Given the description of an element on the screen output the (x, y) to click on. 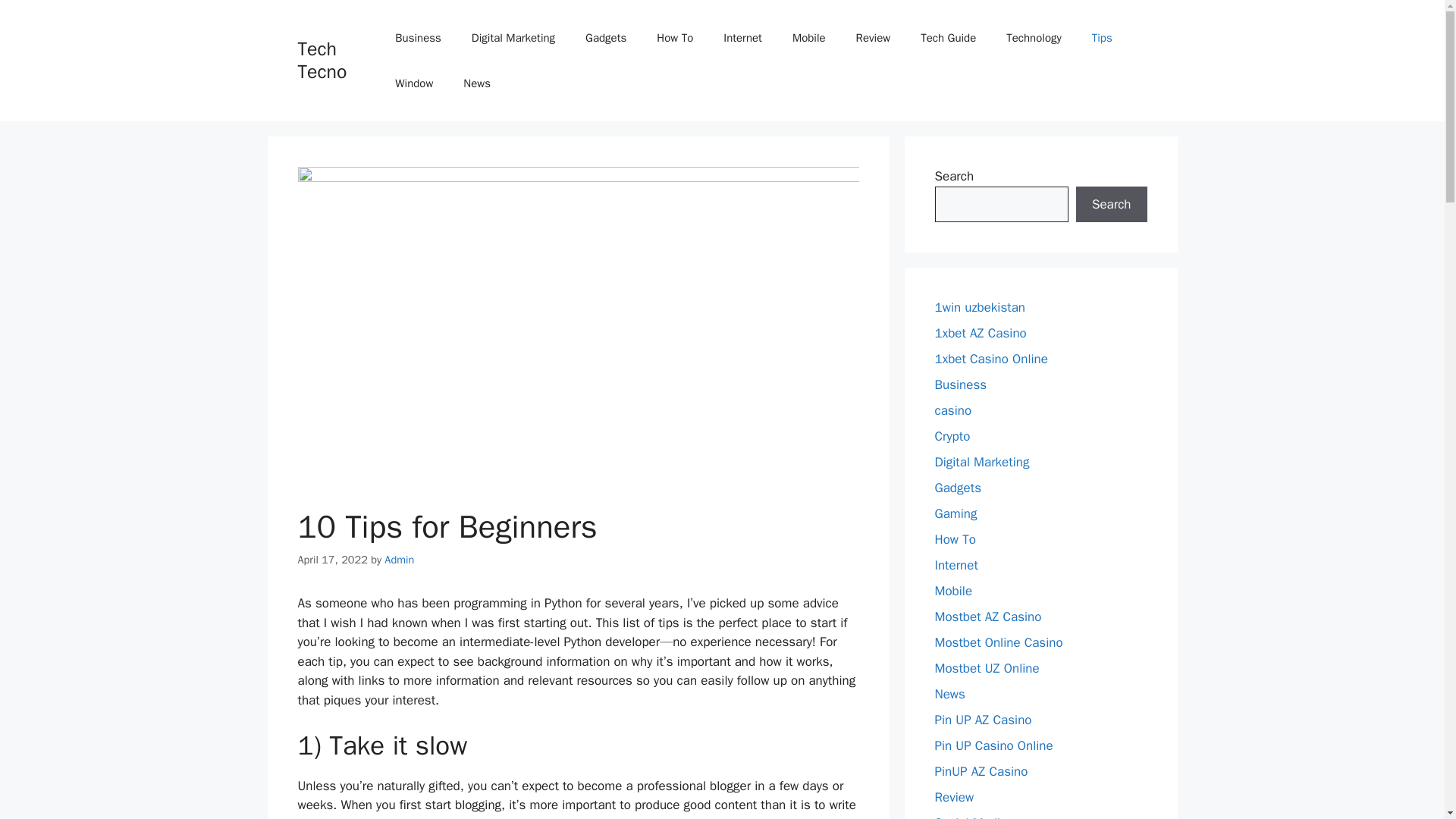
News (948, 693)
Mobile (809, 37)
Search (1111, 204)
Window (414, 83)
How To (674, 37)
Mostbet AZ Casino (987, 616)
View all posts by Admin (398, 559)
Mobile (953, 590)
Tips (1101, 37)
Admin (398, 559)
